Given the description of an element on the screen output the (x, y) to click on. 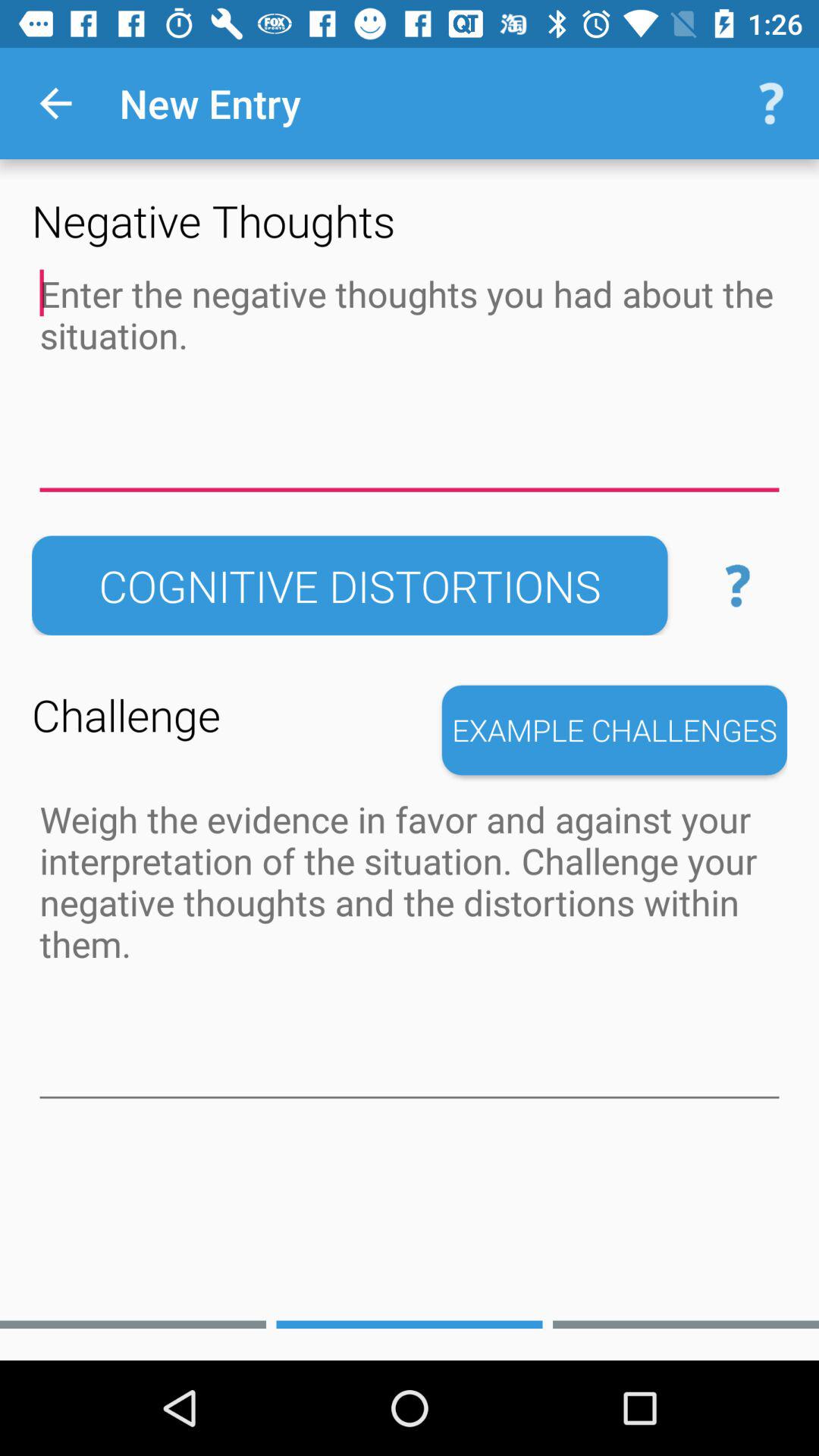
click the example challenges icon (614, 730)
